Given the description of an element on the screen output the (x, y) to click on. 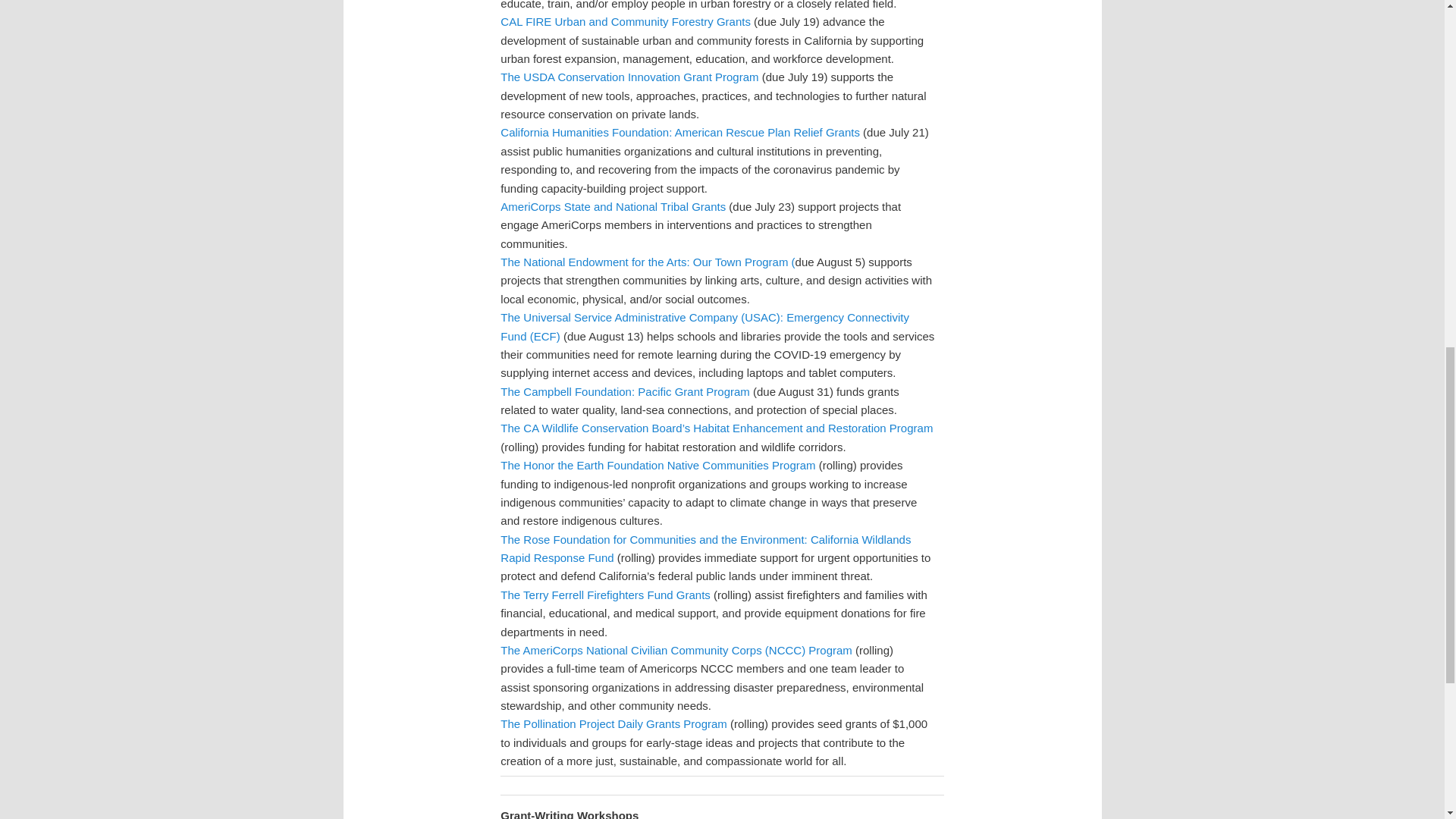
AmeriCorps State and National Tribal Grants (612, 205)
The USDA Conservation Innovation Grant Program (629, 76)
CAL FIRE Urban and Community Forestry Grants (625, 21)
